Given the description of an element on the screen output the (x, y) to click on. 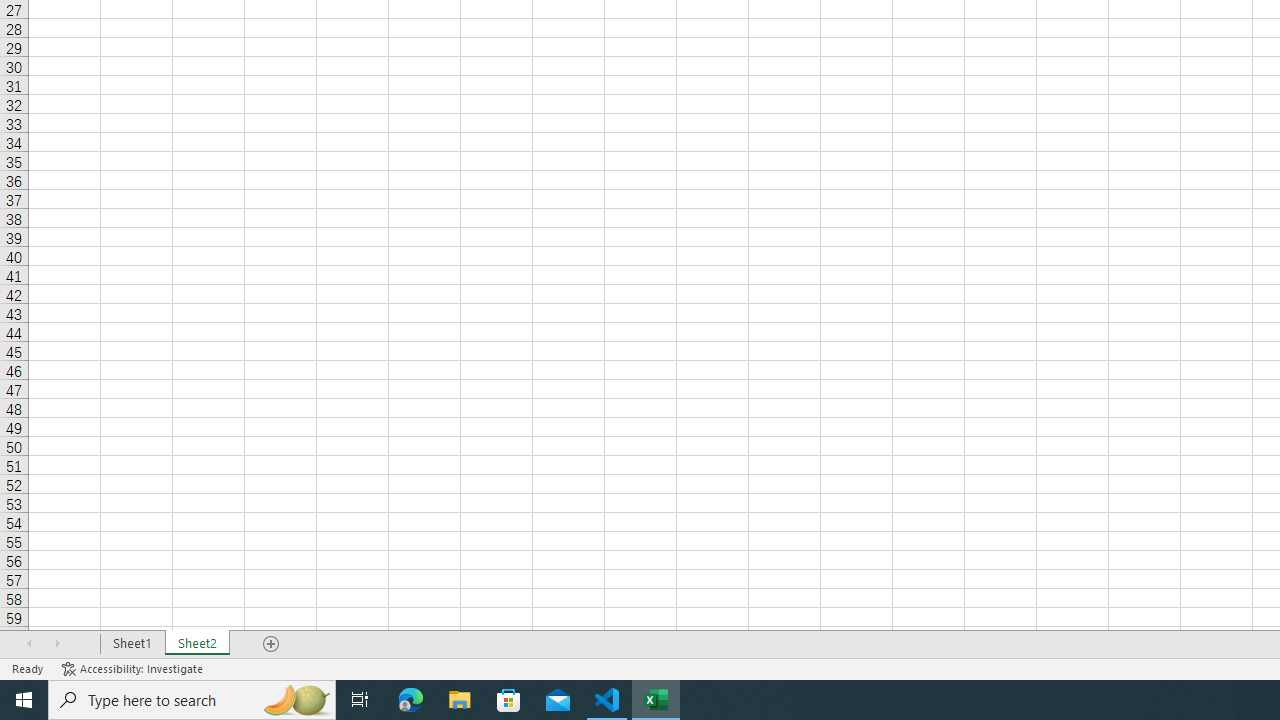
Sheet1 (132, 644)
Sheet2 (197, 644)
Scroll Right (57, 644)
Scroll Left (29, 644)
Add Sheet (271, 644)
Accessibility Checker Accessibility: Investigate (134, 668)
